Given the description of an element on the screen output the (x, y) to click on. 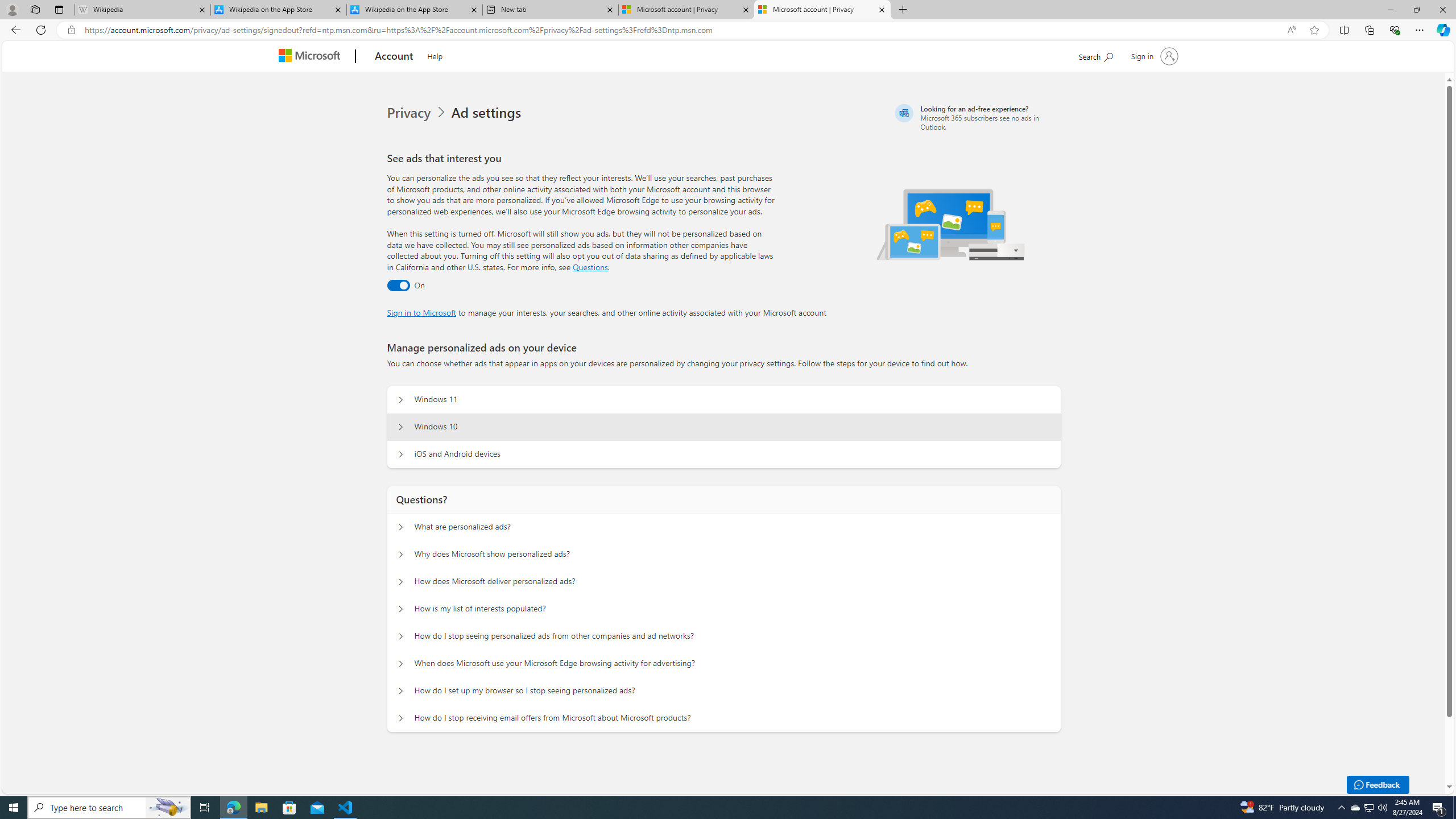
Microsoft (311, 56)
Help (434, 54)
Collections (1369, 29)
Search Microsoft.com (1095, 54)
Close tab (881, 9)
Back (13, 29)
Privacy (410, 112)
Sign in to Microsoft (422, 311)
Ad settings (488, 112)
Account (394, 56)
